Given the description of an element on the screen output the (x, y) to click on. 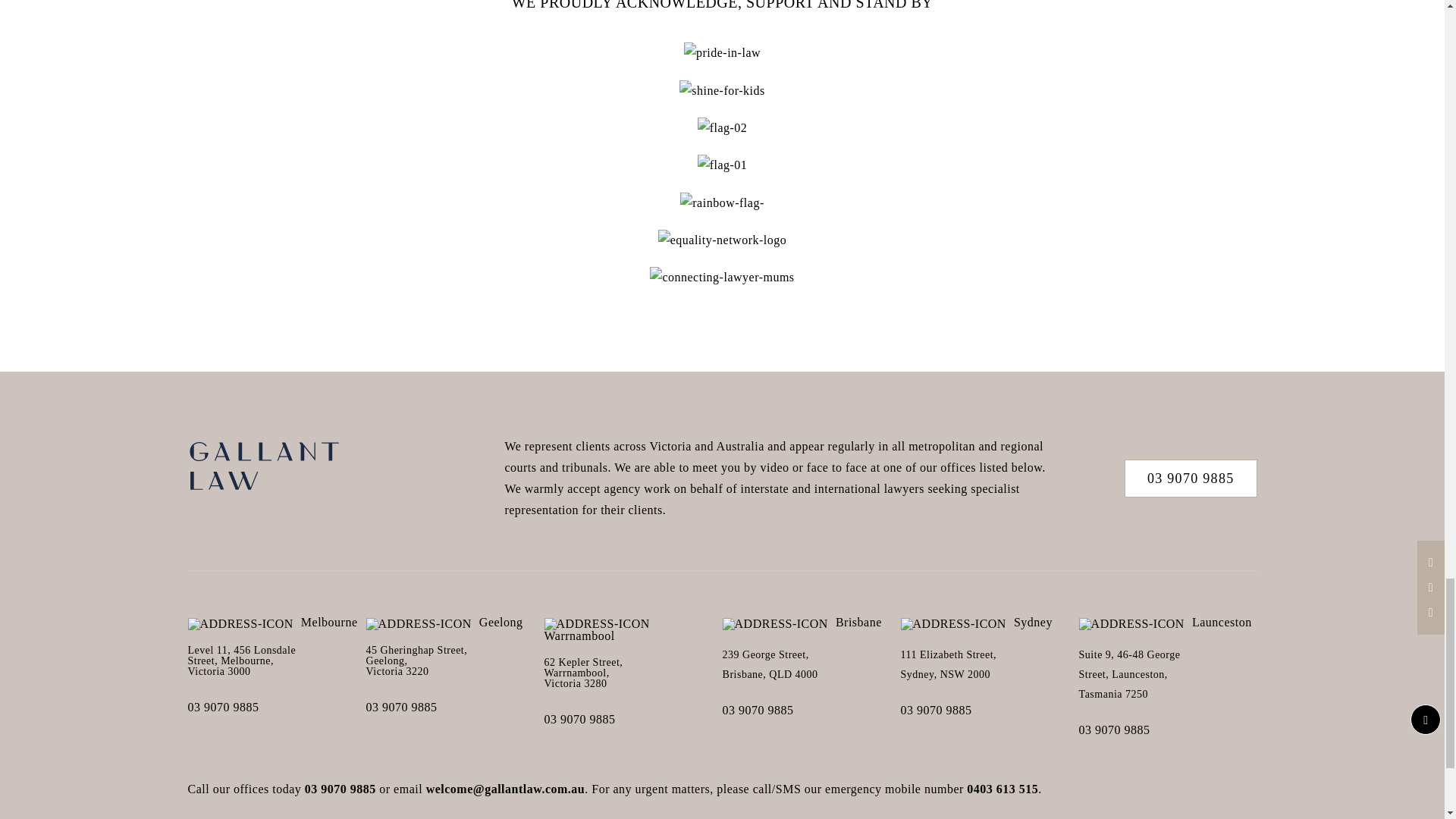
equality-network-logo (722, 240)
rainbow-flag- (720, 202)
shine-for-kids (721, 90)
flag-02 (722, 127)
address-icon (240, 623)
connecting-lawyer-mums (721, 277)
address-icon (418, 623)
flag-01 (722, 165)
pride-in-law (722, 52)
